Given the description of an element on the screen output the (x, y) to click on. 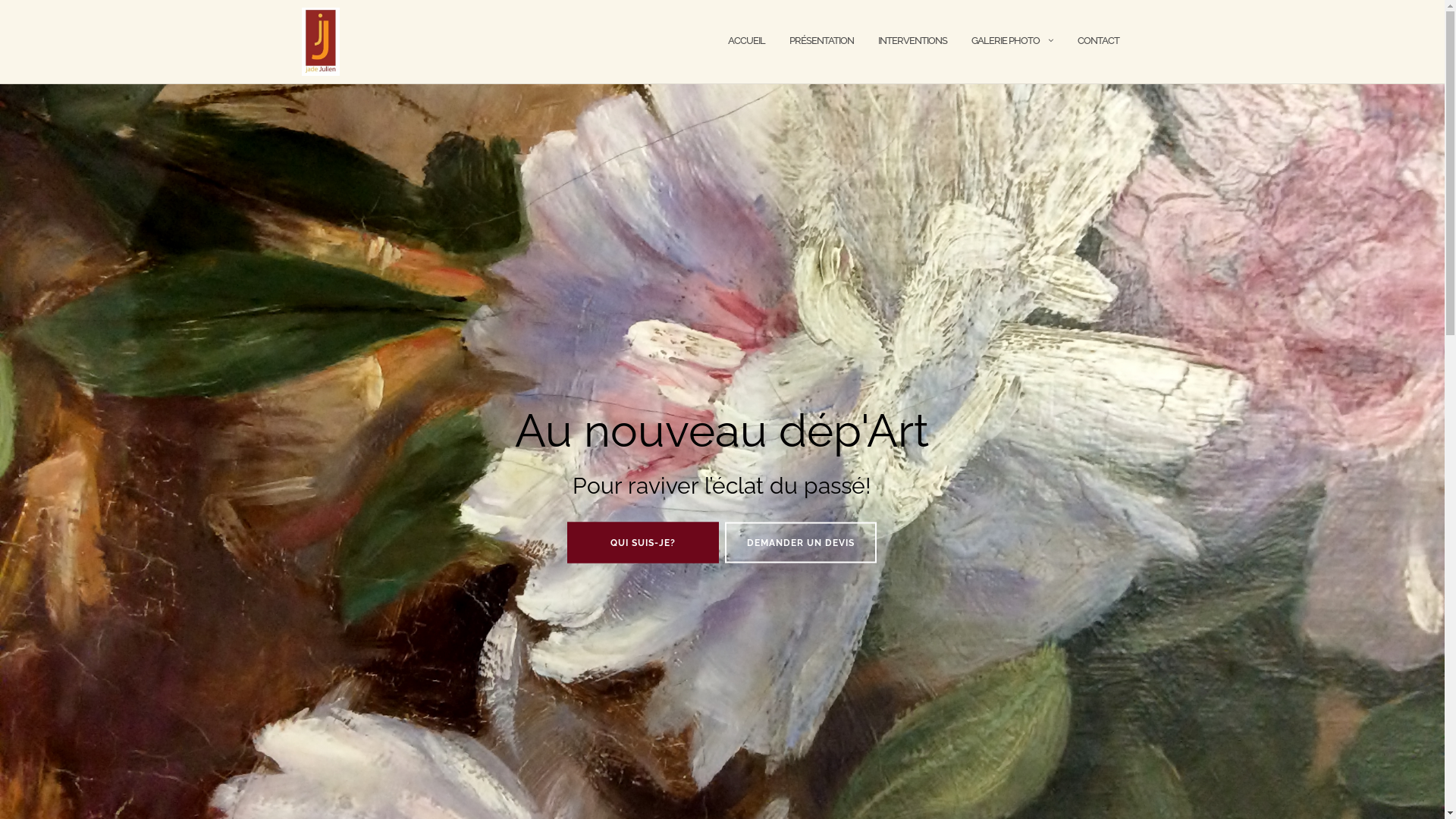
GALERIE PHOTO Element type: text (1004, 41)
QUI SUIS-JE? Element type: text (642, 541)
ACCUEIL Element type: text (746, 41)
INTERVENTIONS Element type: text (912, 41)
DEMANDER UN DEVIS Element type: text (800, 541)
CONTACT Element type: text (1097, 41)
